Given the description of an element on the screen output the (x, y) to click on. 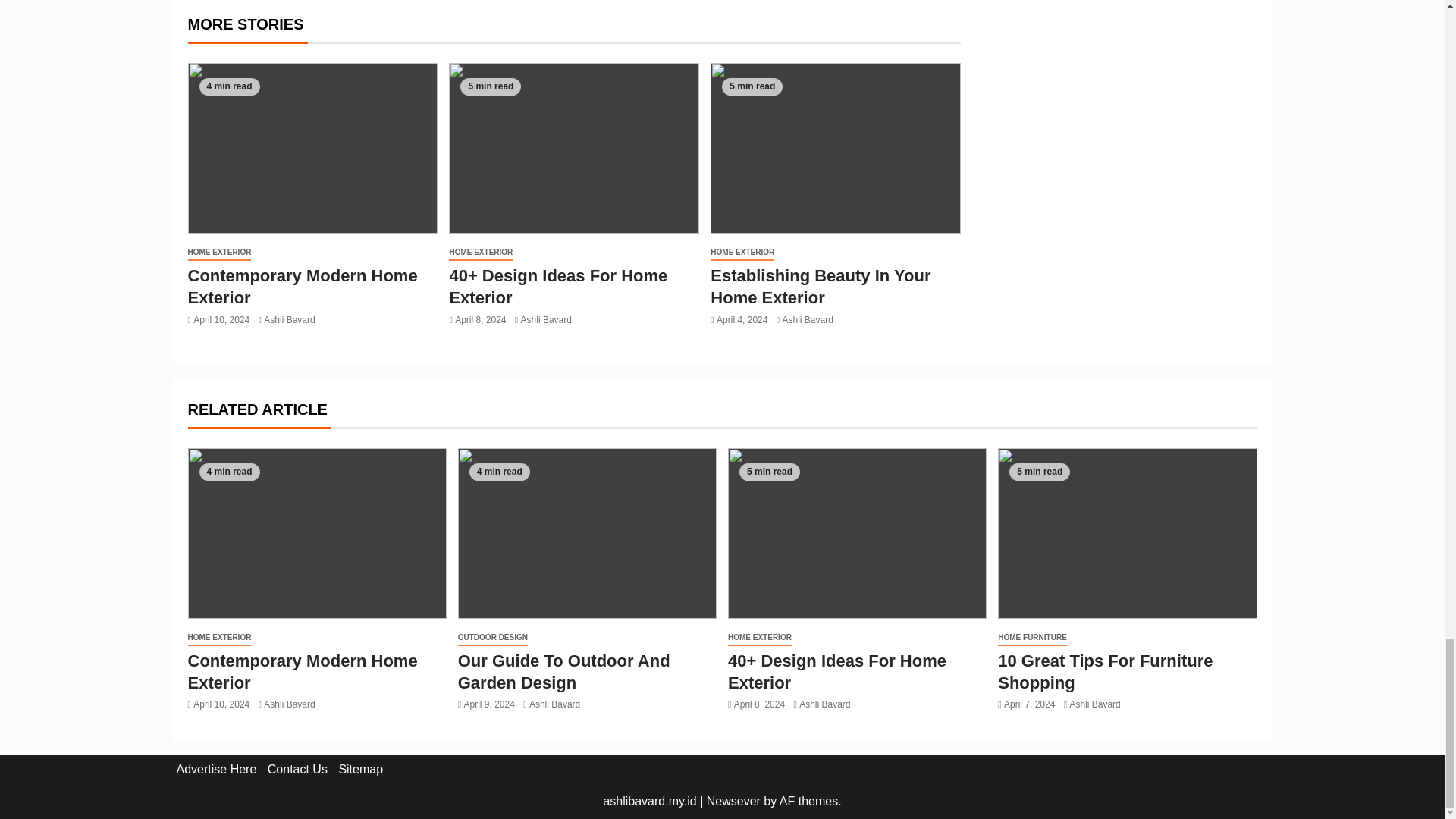
Ashli Bavard (546, 318)
Contemporary Modern Home Exterior (302, 286)
HOME EXTERIOR (219, 252)
Ashli Bavard (288, 318)
HOME EXTERIOR (742, 252)
Ashli Bavard (806, 318)
HOME EXTERIOR (480, 252)
Establishing Beauty In Your Home Exterior (820, 286)
